Given the description of an element on the screen output the (x, y) to click on. 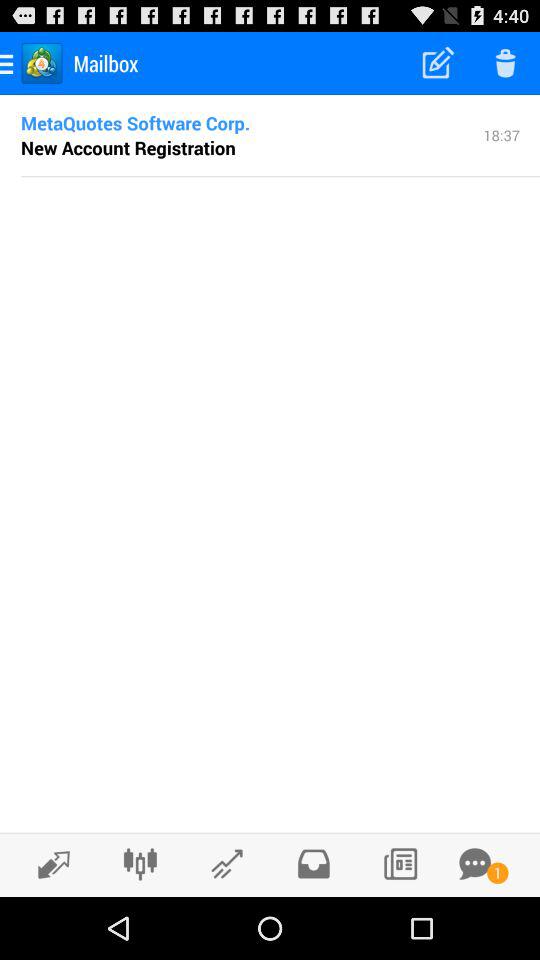
go to realtime quotes (48, 864)
